Given the description of an element on the screen output the (x, y) to click on. 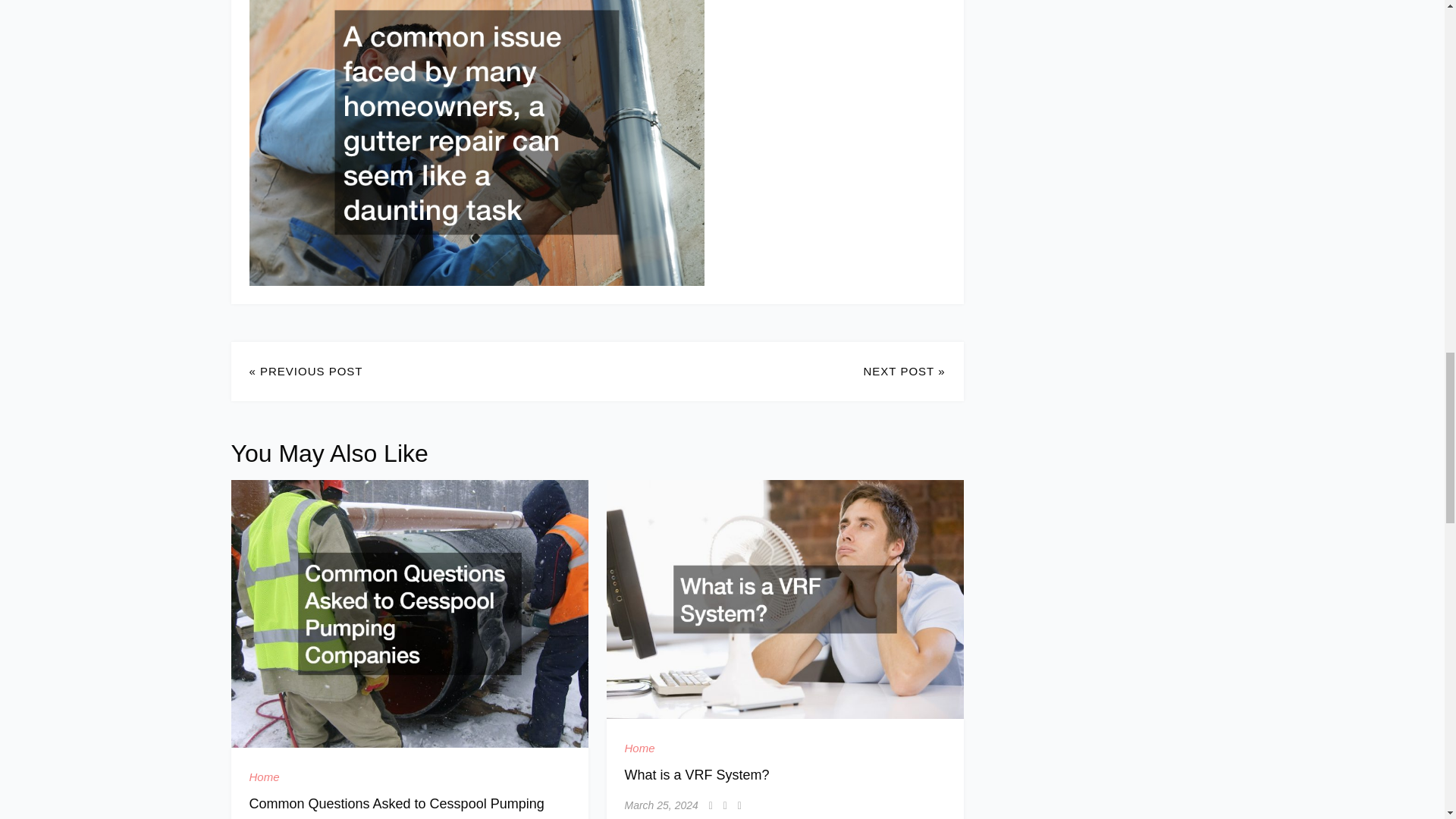
What is a VRF System? (697, 774)
Home (639, 748)
Home (263, 776)
Common Questions Asked to Cesspool Pumping Companies (395, 807)
March 25, 2024 (661, 805)
